Given the description of an element on the screen output the (x, y) to click on. 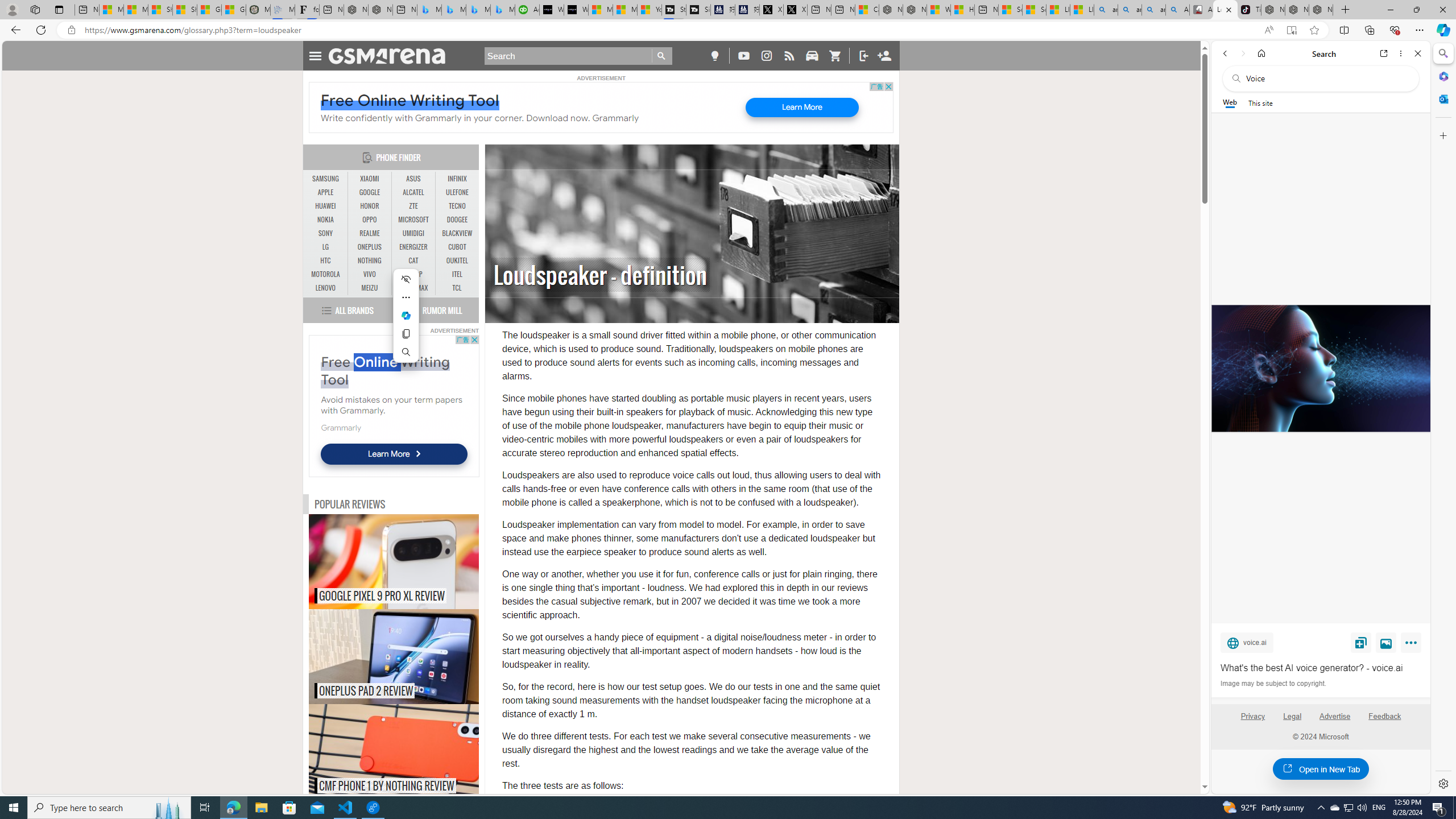
ENERGIZER (413, 246)
Ask Copilot (406, 315)
TCL (457, 287)
SHARP (413, 273)
INFINIX (457, 178)
Open link in new tab (1383, 53)
Advertise (1334, 720)
TECNO (457, 205)
OUKITEL (457, 260)
NOKIA (325, 219)
SONY (325, 233)
Nordace Siena Pro 15 Backpack (1296, 9)
